Given the description of an element on the screen output the (x, y) to click on. 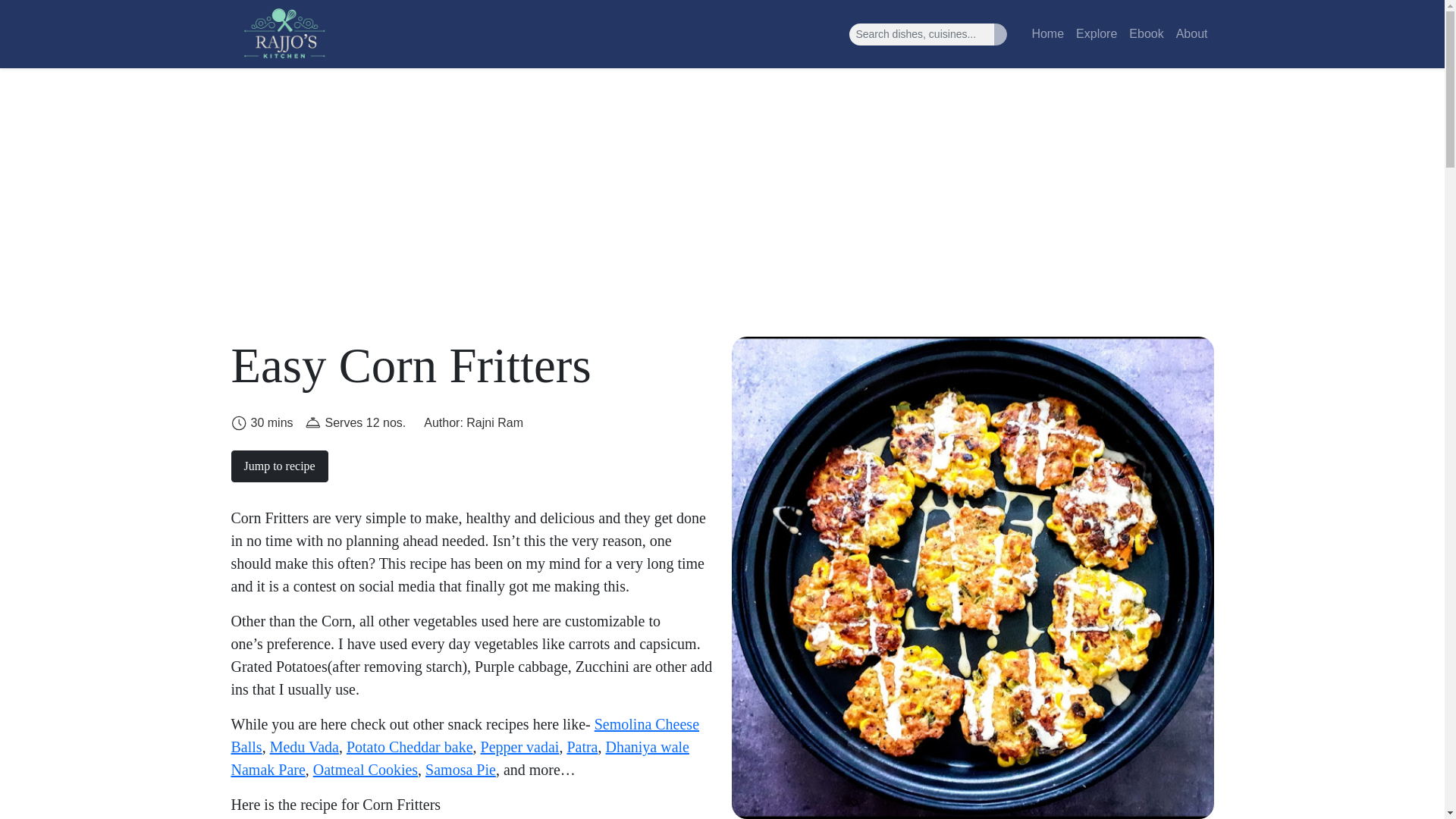
Medu Vada (304, 746)
Explore (1096, 33)
Potato Cheddar bake (409, 746)
Samosa Pie (460, 769)
Jump to recipe (278, 466)
About (1192, 33)
Ebook (1145, 33)
Oatmeal Cookies (365, 769)
Semolina Cheese Balls (464, 735)
